Given the description of an element on the screen output the (x, y) to click on. 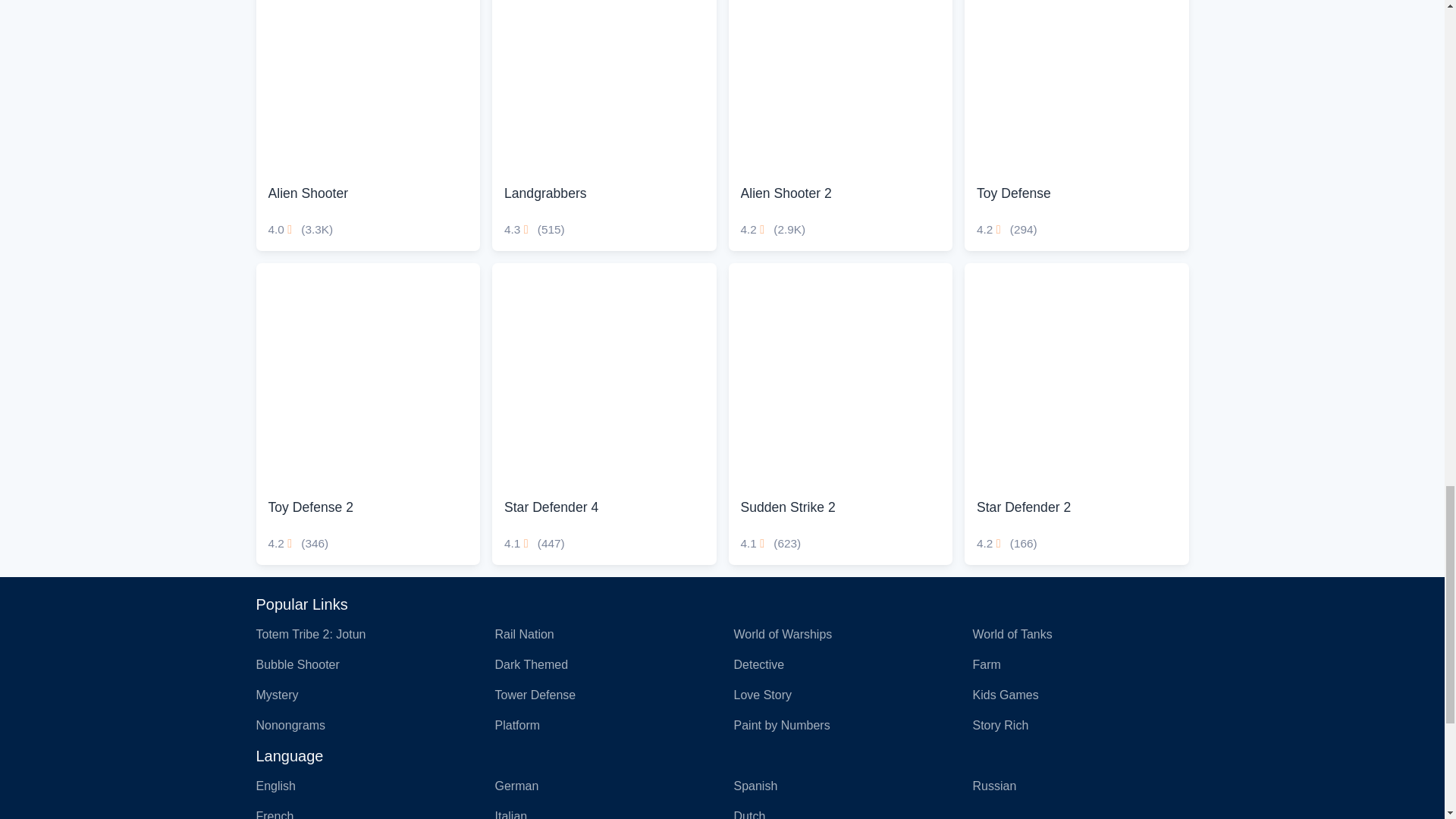
Toy Defense 2 (368, 374)
Toy Defense (1076, 125)
Star Defender 4 (604, 374)
Alien Shooter (368, 125)
Alien Shooter 2 (840, 125)
Alien Shooter (368, 86)
Landgrabbers (604, 125)
Toy Defense (1076, 86)
Landgrabbers (604, 86)
Alien Shooter 2 (840, 86)
